Given the description of an element on the screen output the (x, y) to click on. 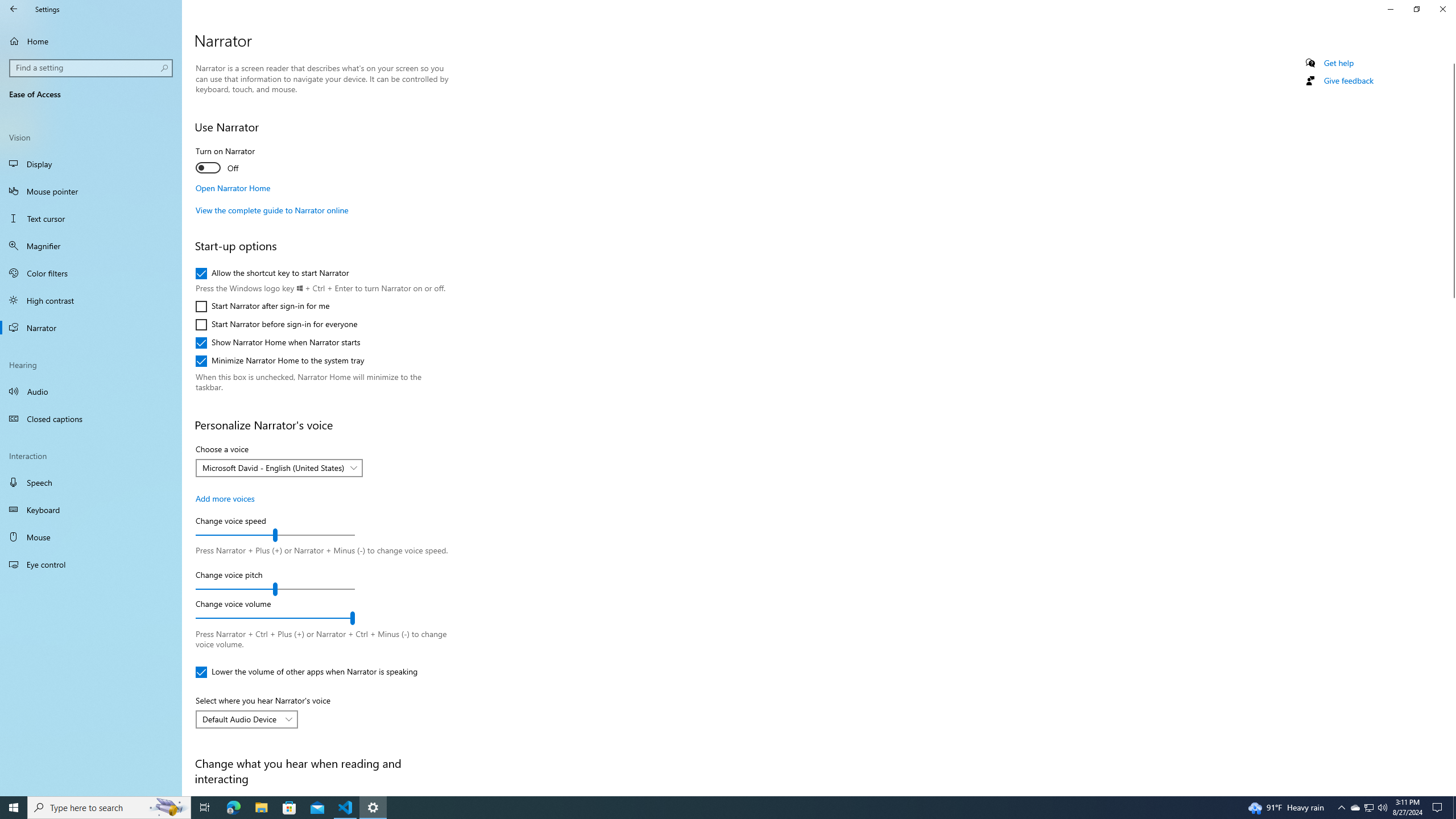
Lower the volume of other apps when Narrator is speaking (306, 672)
Minimize Narrator Home to the system tray (279, 361)
Vertical Small Decrease (1451, 58)
Home (91, 40)
View the complete guide to Narrator online (271, 209)
Eye control (91, 564)
Give feedback (1348, 80)
Restore Settings (1416, 9)
Magnifier (91, 245)
Add more voices (224, 498)
Narrator (91, 327)
